Given the description of an element on the screen output the (x, y) to click on. 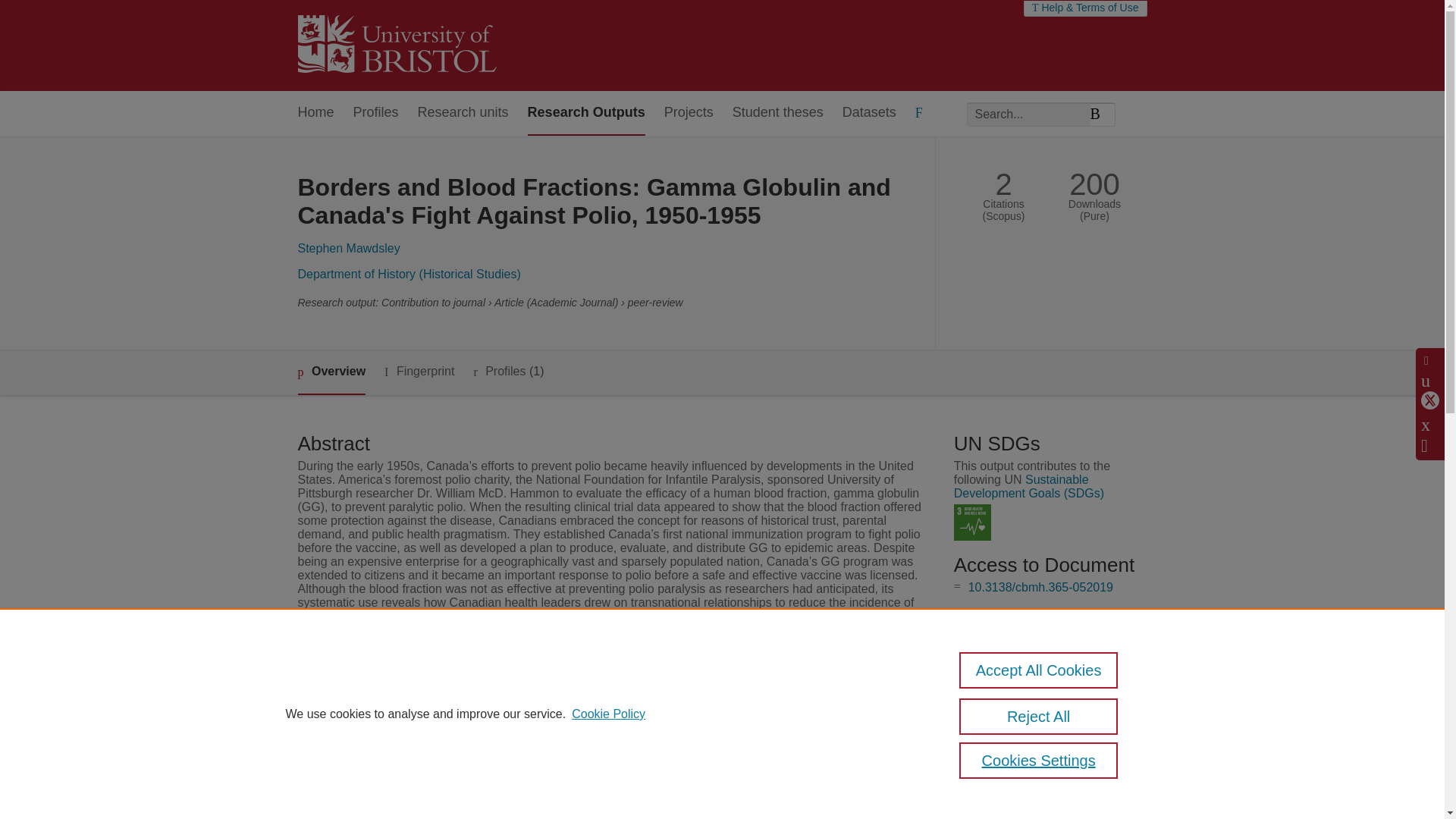
Student theses (778, 112)
Persistent link (1005, 799)
Canadian Bulletin of Medical History (605, 689)
Stephen Mawdsley (347, 247)
Research Outputs (586, 112)
Projects (688, 112)
Research units (462, 112)
University of Bristol Home (396, 45)
Fingerprint (419, 371)
